Given the description of an element on the screen output the (x, y) to click on. 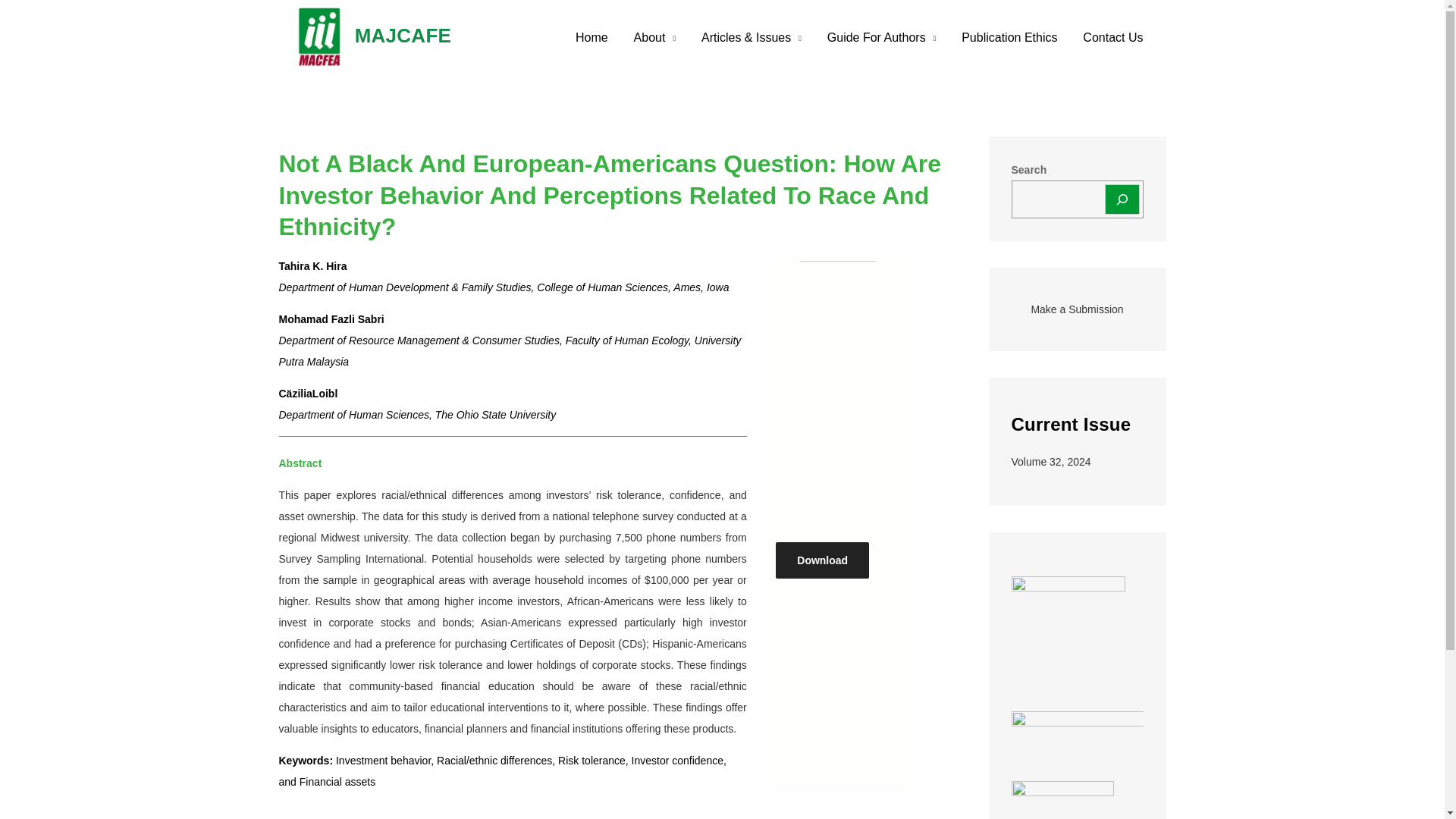
MAJCAFE (403, 35)
About (655, 38)
Home (592, 38)
